Given the description of an element on the screen output the (x, y) to click on. 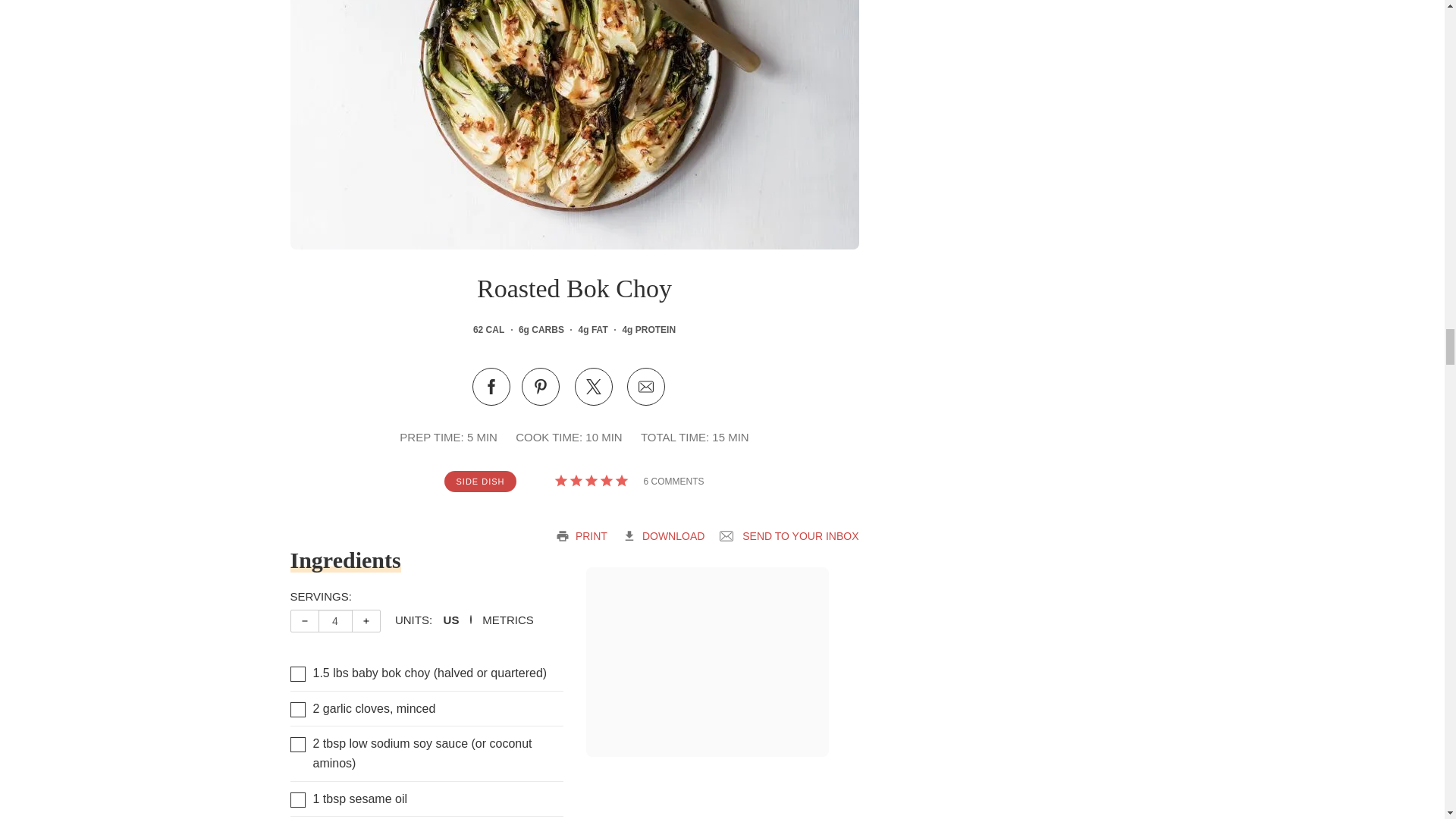
4 (335, 620)
